Given the description of an element on the screen output the (x, y) to click on. 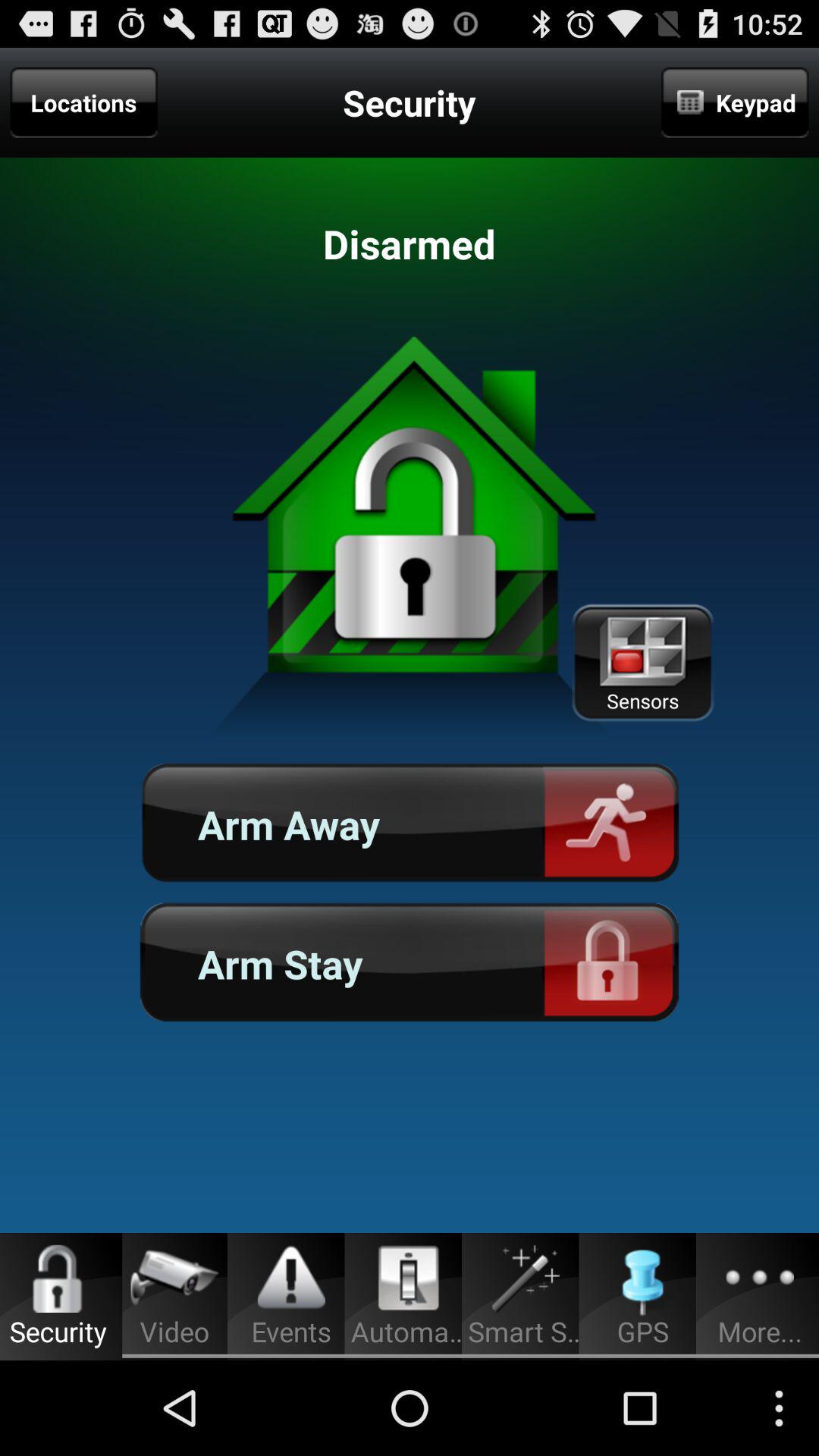
tap item next to the security (734, 102)
